Given the description of an element on the screen output the (x, y) to click on. 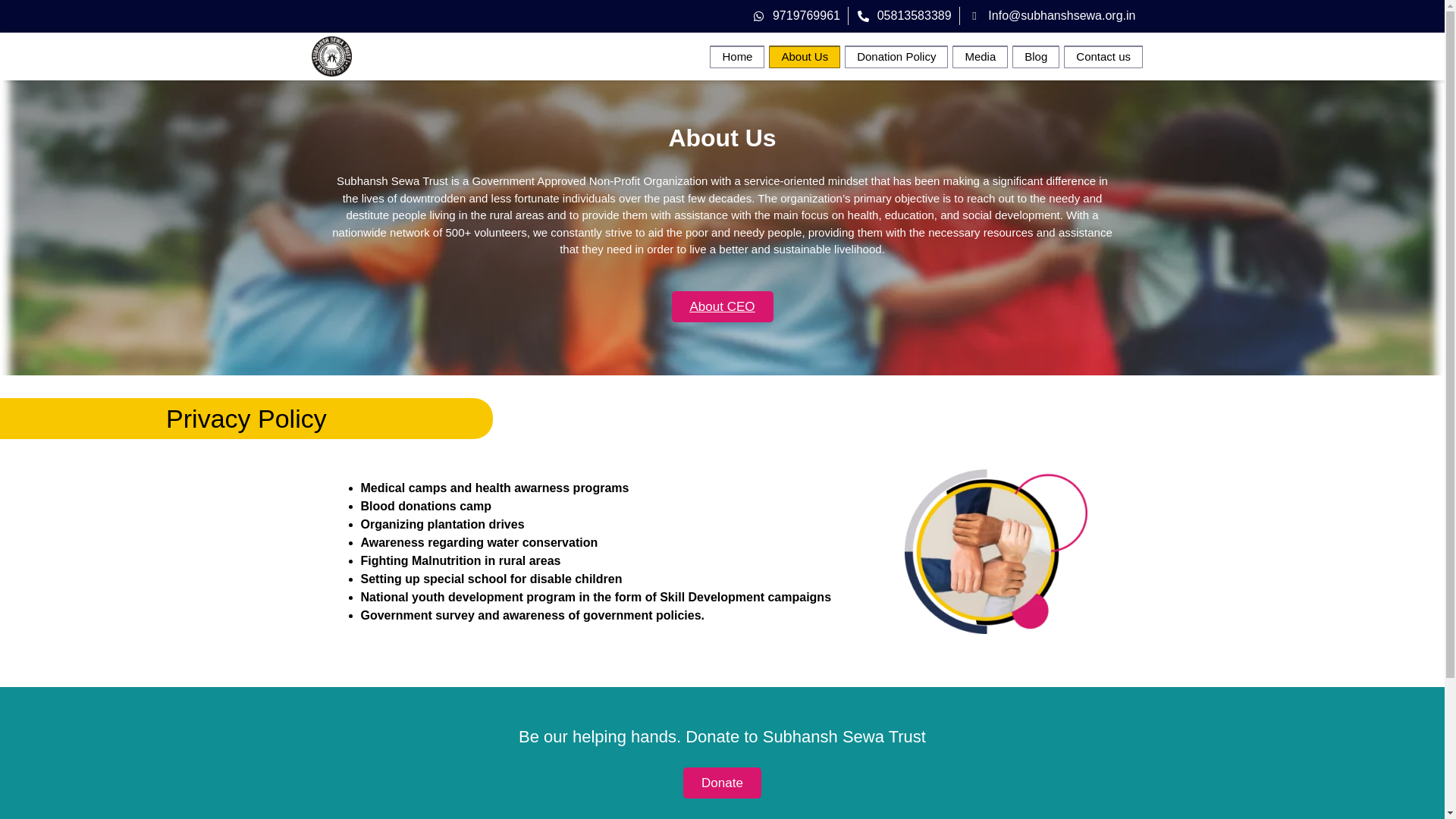
About Us (804, 56)
Donate (721, 782)
Home (737, 56)
Blog (1035, 56)
Contact us (1103, 56)
Media (979, 56)
Donation Policy (895, 56)
About CEO (722, 306)
